Given the description of an element on the screen output the (x, y) to click on. 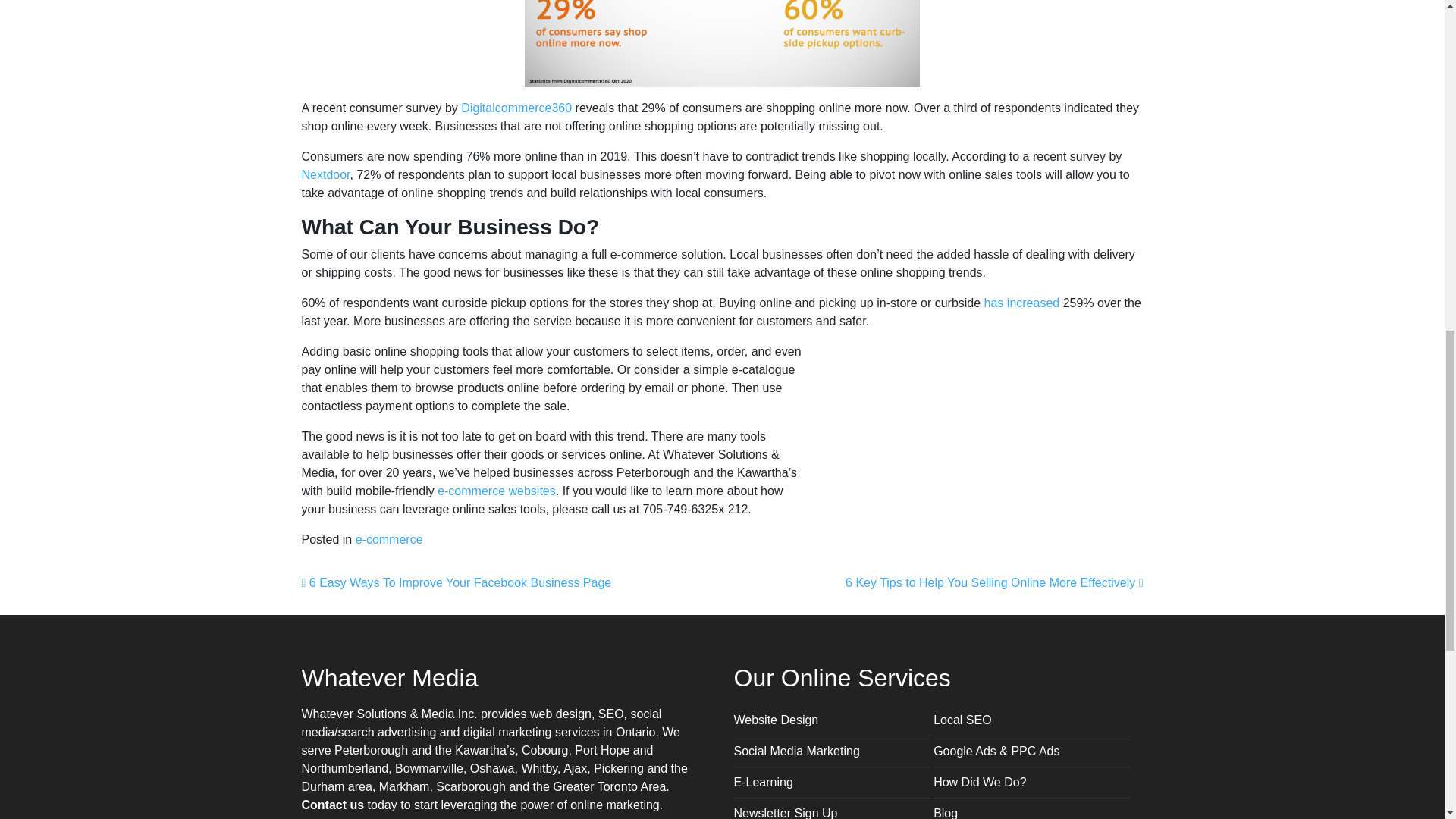
E-Learning (763, 781)
6 Key Tips to Help You Selling Online More Effectively  (993, 582)
Nextdoor (325, 174)
 6 Easy Ways To Improve Your Facebook Business Page (456, 582)
Local SEO (962, 719)
Website Design (775, 719)
Social Media Marketing (796, 750)
has increased (1021, 302)
e-commerce (389, 539)
Digitalcommerce360 (516, 107)
e-commerce websites (497, 490)
Contact us (333, 804)
